Given the description of an element on the screen output the (x, y) to click on. 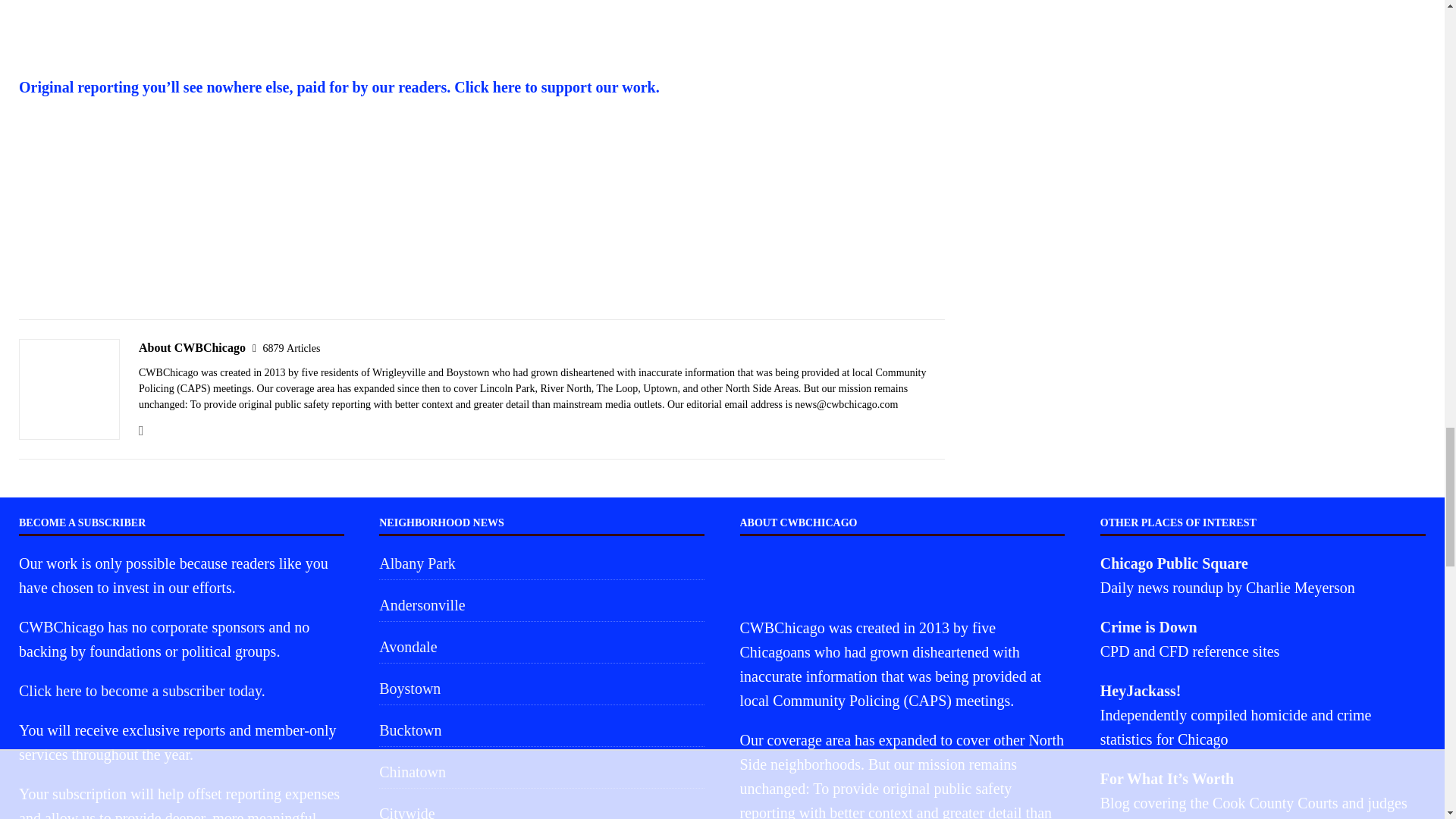
Avondale (541, 646)
More articles written by CWBChicago' (291, 348)
6879 Articles (291, 348)
Bucktown (541, 730)
Boystown (541, 688)
Andersonville (541, 604)
Albany Park (541, 565)
Click here to support our work. (556, 86)
Chinatown (541, 771)
Click here to become a subscriber today. (141, 690)
